Given the description of an element on the screen output the (x, y) to click on. 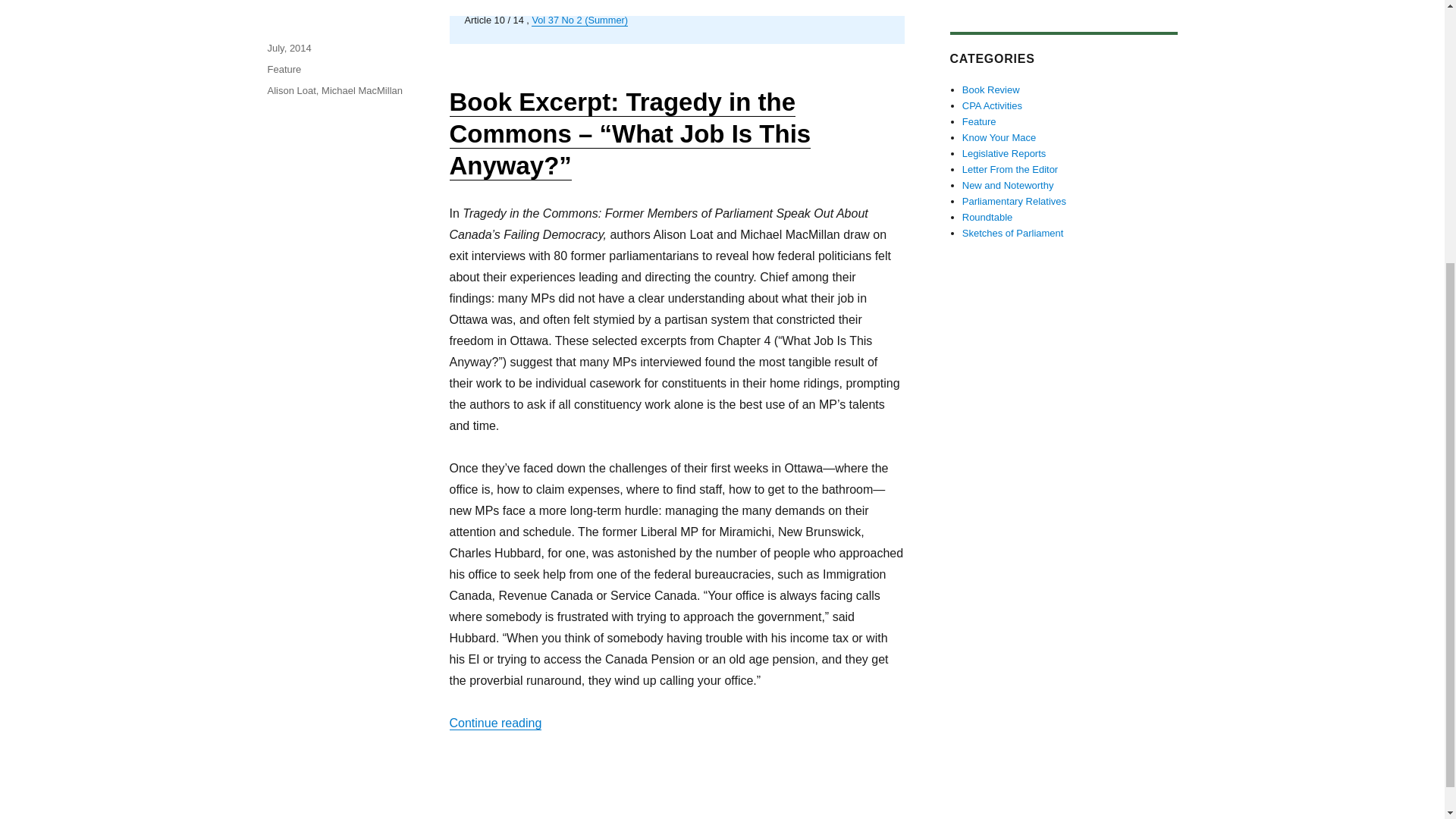
Michael MacMillan (362, 90)
Alison Loat (290, 90)
Sketches of Parliament (1013, 233)
New and Noteworthy (1008, 184)
Roundtable (987, 216)
Letter From the Editor (1010, 169)
Parliamentary Relatives (1013, 201)
Feature (283, 69)
Legislative Reports (1004, 153)
July, 2014 (288, 48)
Know Your Mace (999, 137)
Feature (978, 121)
CPA Activities (992, 105)
Book Review (991, 89)
